Given the description of an element on the screen output the (x, y) to click on. 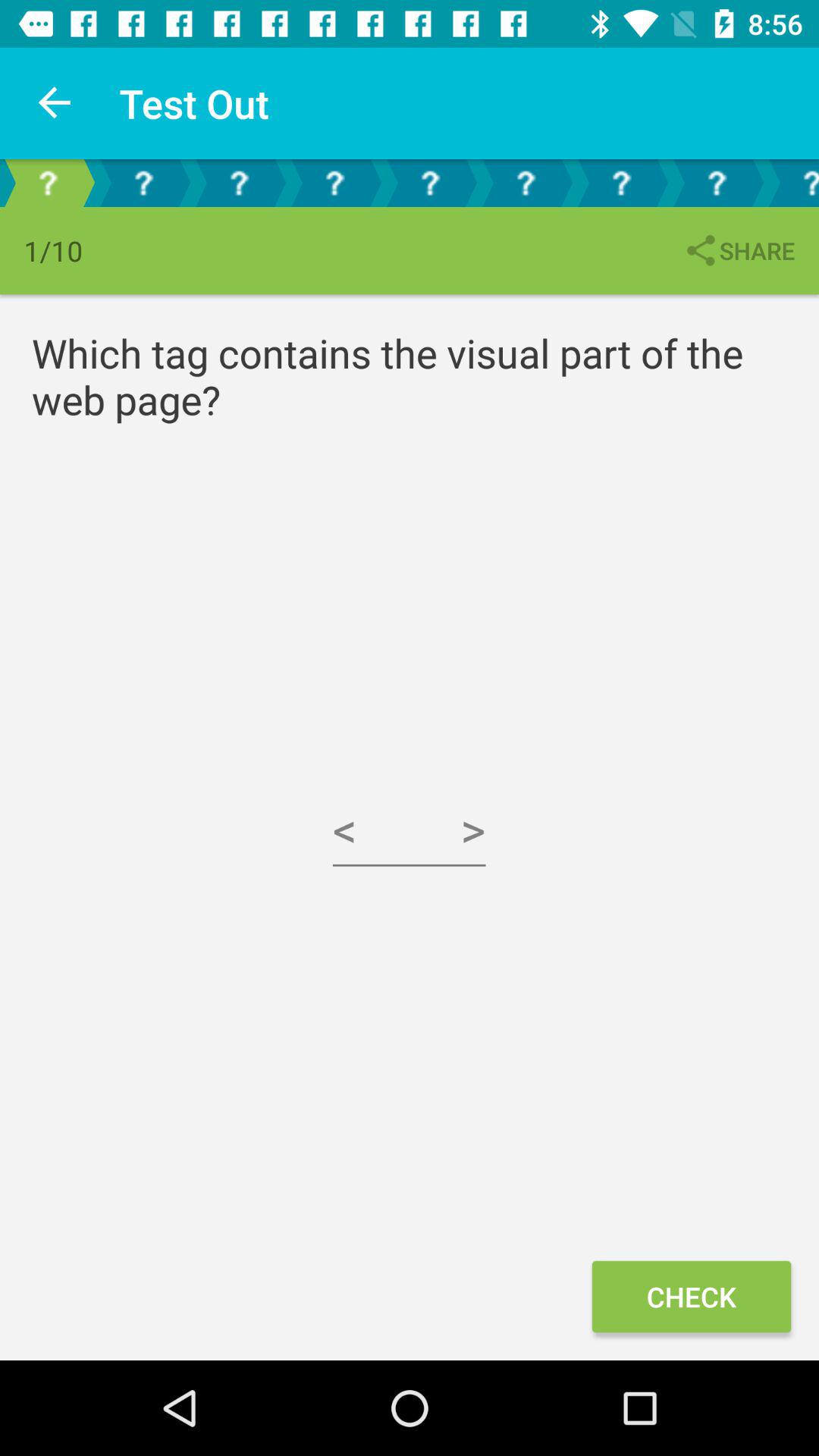
initiate tab (525, 183)
